Given the description of an element on the screen output the (x, y) to click on. 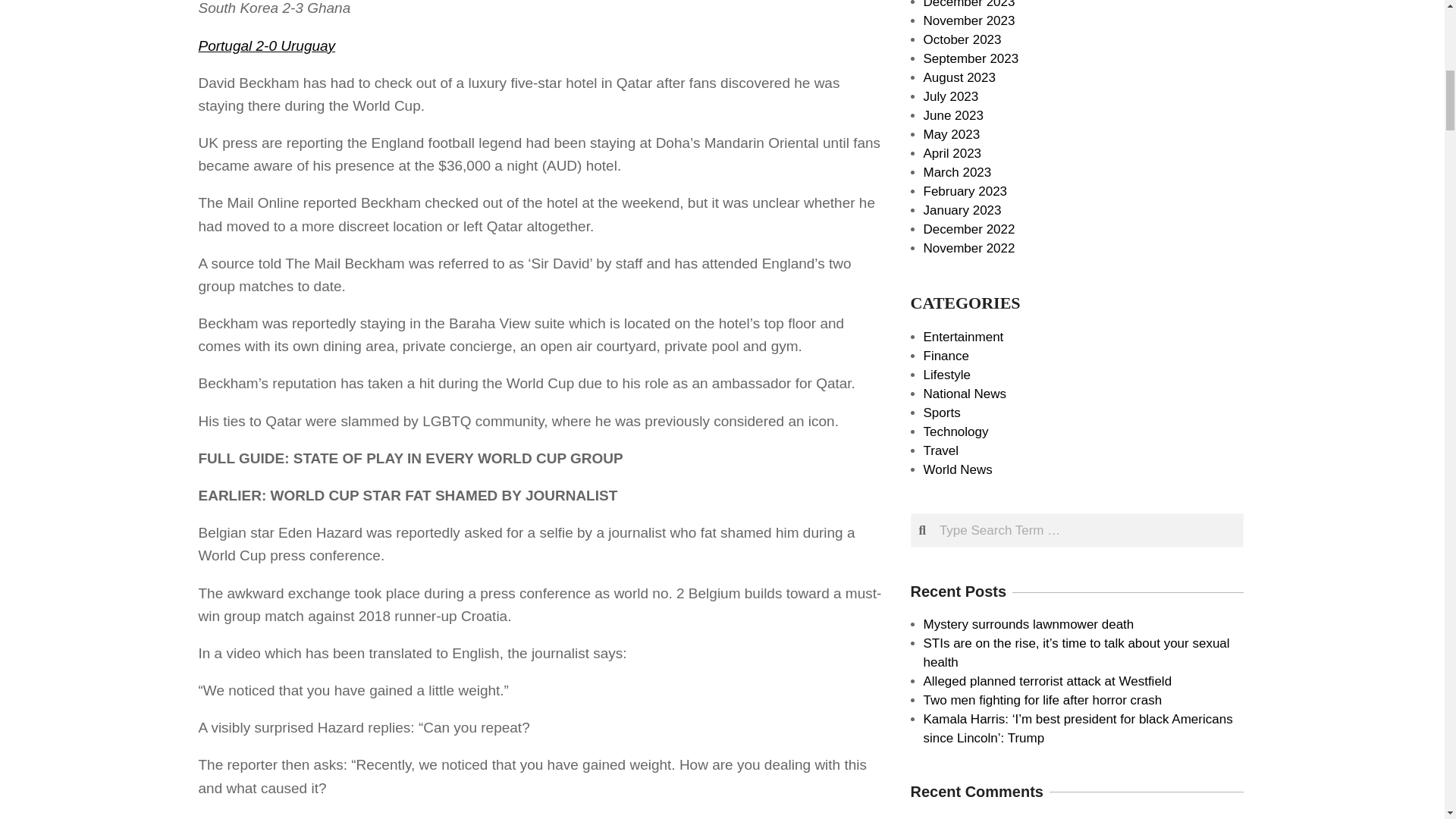
Portugal 2-0 Uruguay (267, 45)
